Given the description of an element on the screen output the (x, y) to click on. 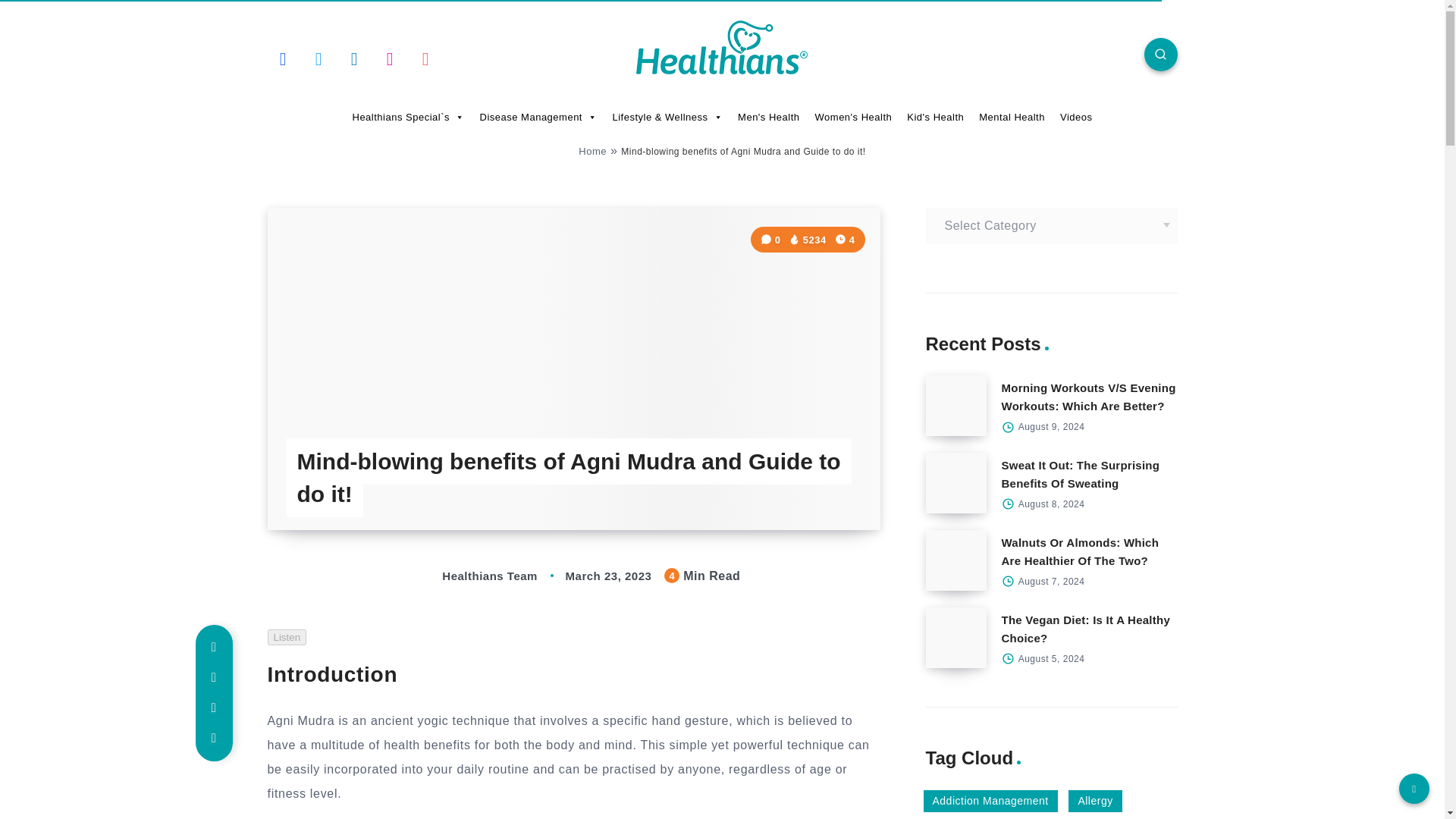
Author: Healthians Team (474, 575)
0 Comments (772, 239)
4 Min Read (845, 239)
5234 Views (808, 239)
